Given the description of an element on the screen output the (x, y) to click on. 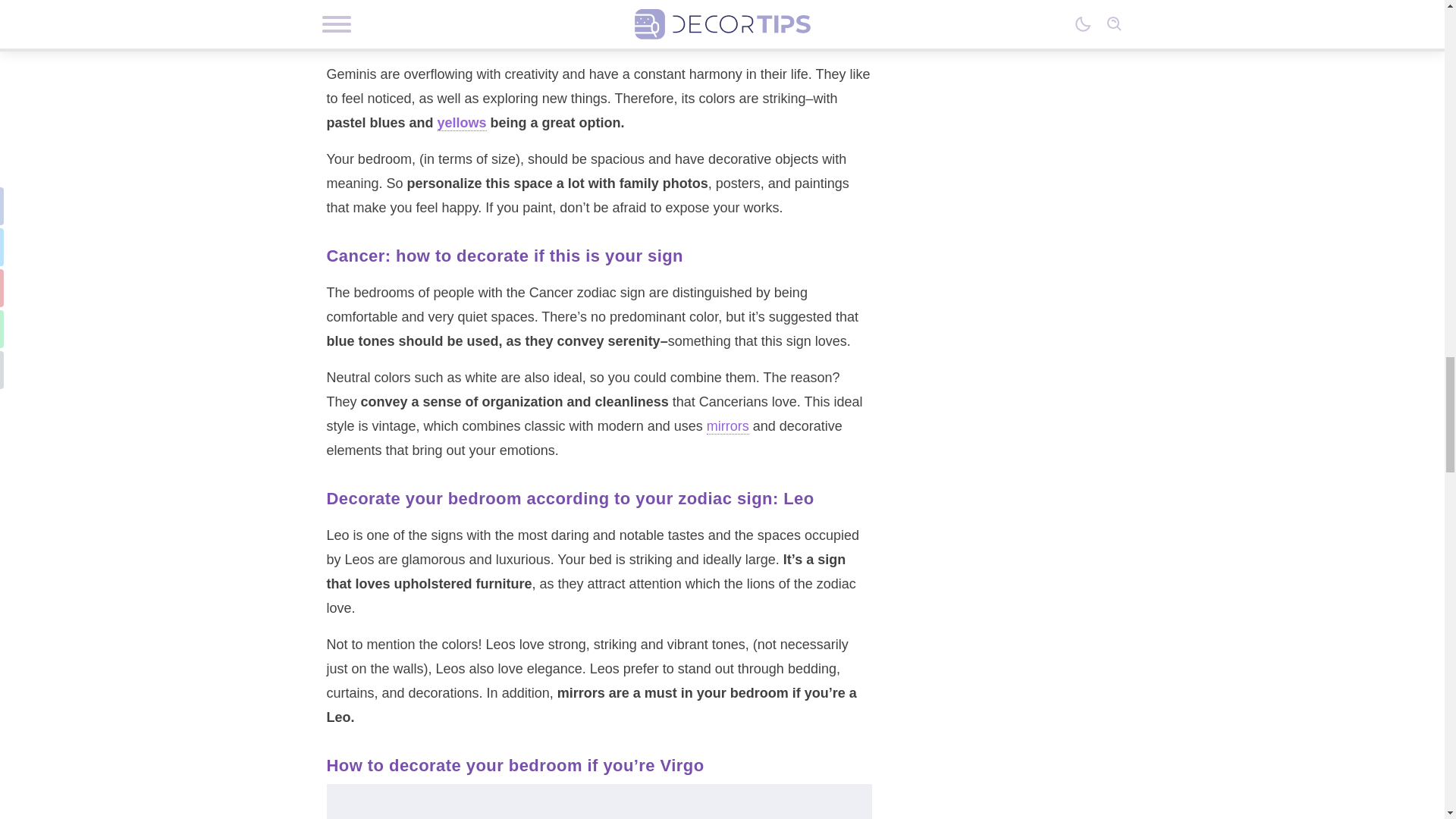
yellows (462, 123)
mirrors (727, 426)
